Given the description of an element on the screen output the (x, y) to click on. 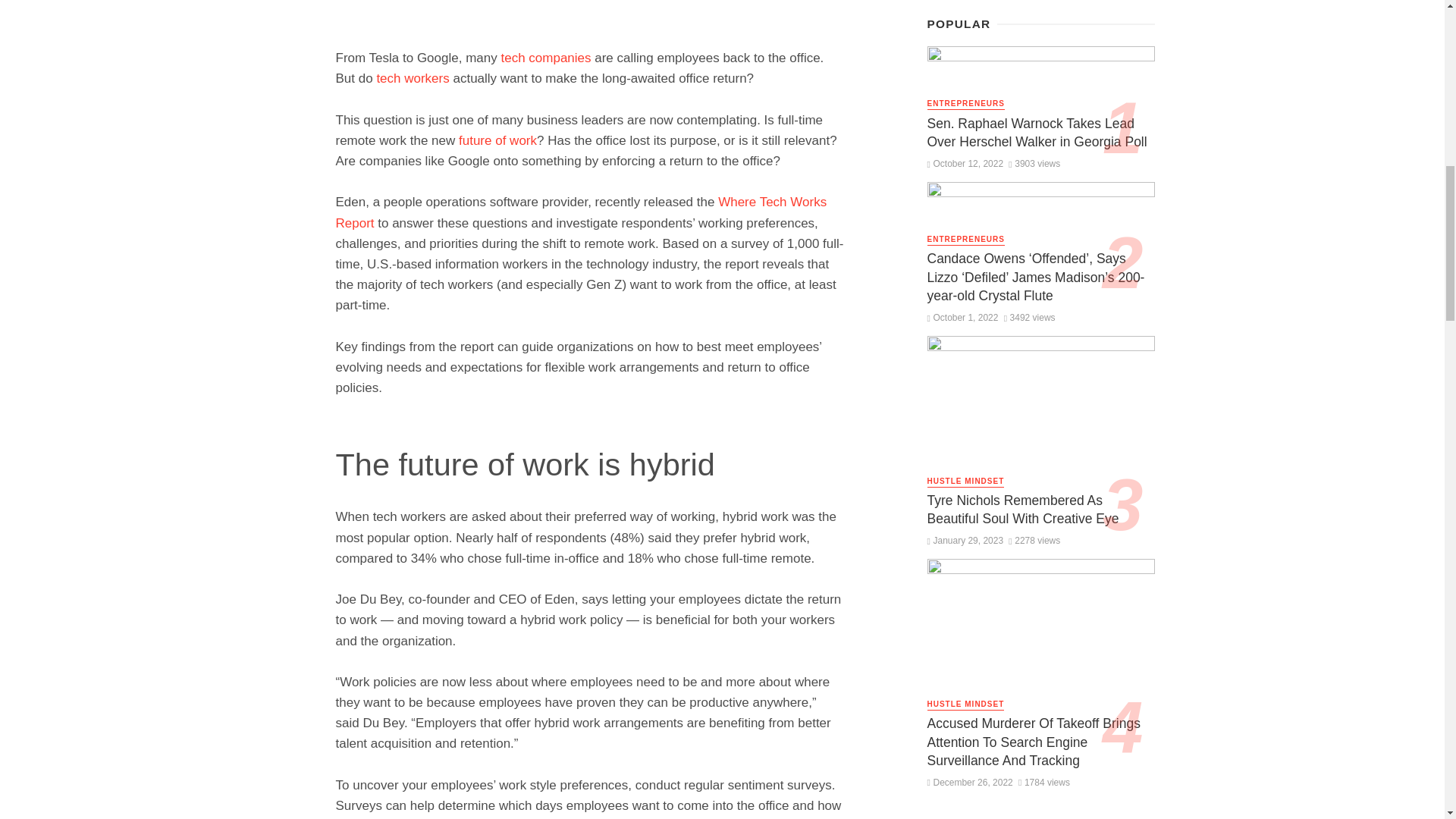
future of work (497, 140)
Where Tech Works Report (580, 212)
tech companies (545, 57)
tech workers (411, 78)
